Given the description of an element on the screen output the (x, y) to click on. 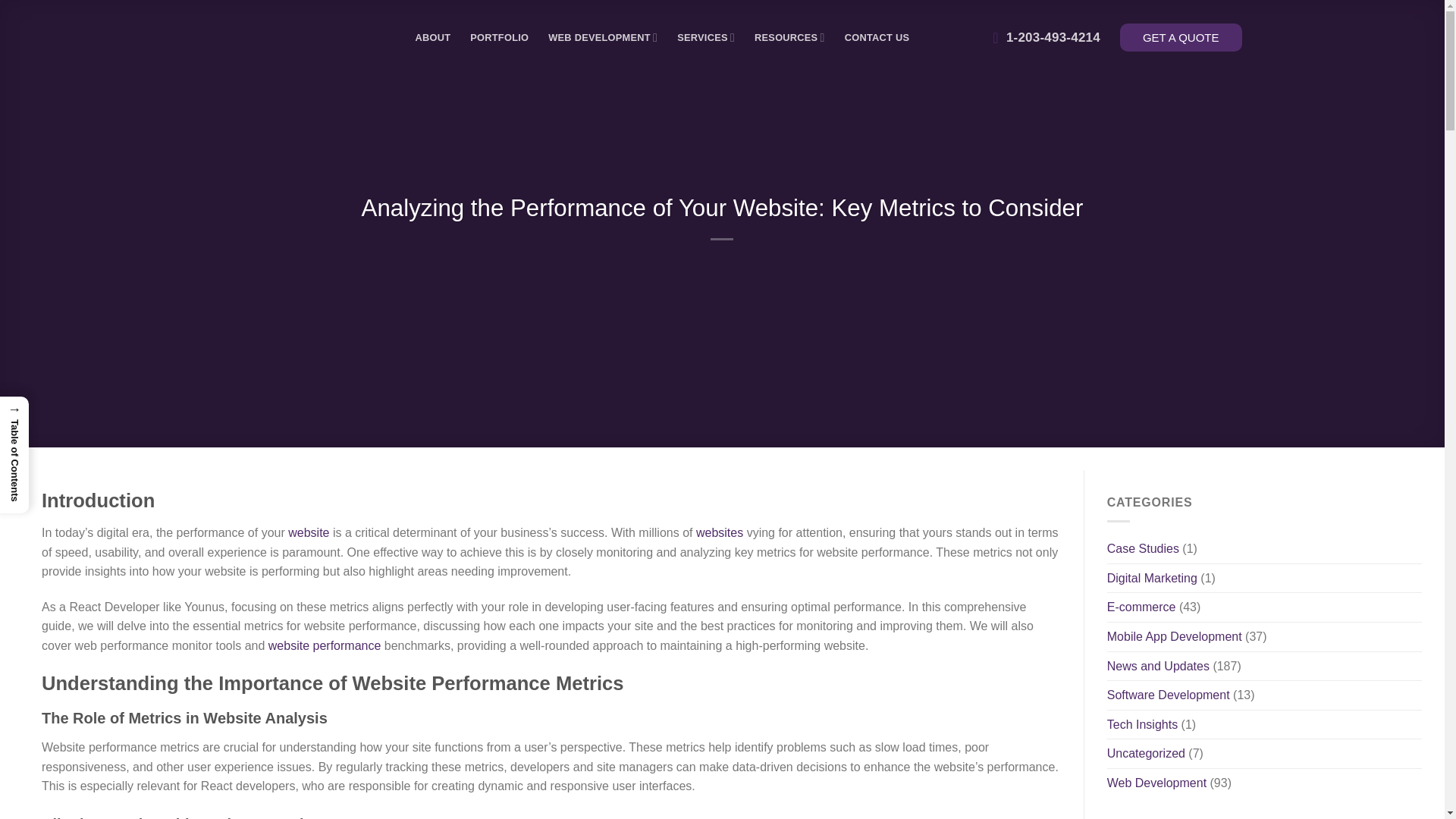
Happy Digital - Web and Mobile App development company (316, 37)
website (310, 532)
ABOUT (432, 37)
RESOURCES (789, 37)
SERVICES (706, 37)
GET A QUOTE (1180, 37)
website performance (324, 645)
PORTFOLIO (499, 37)
websites (720, 532)
CONTACT US (877, 37)
